Given the description of an element on the screen output the (x, y) to click on. 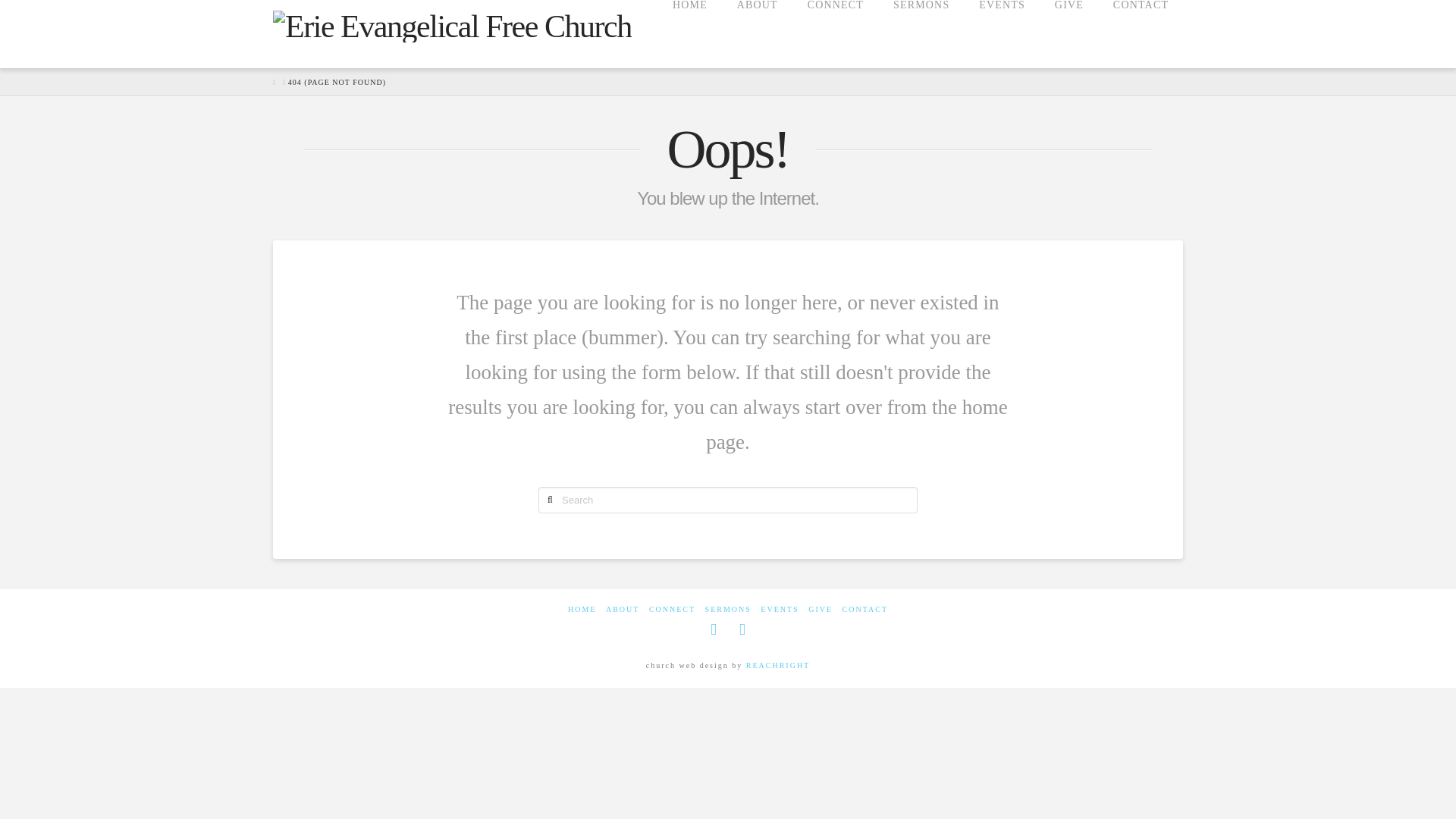
EVENTS (1001, 33)
GIVE (820, 609)
CONNECT (834, 33)
ABOUT (757, 33)
church web design by REACHRIGHT (777, 664)
SERMONS (920, 33)
CONTACT (1139, 33)
SERMONS (727, 609)
HOME (581, 609)
CONNECT (672, 609)
